Given the description of an element on the screen output the (x, y) to click on. 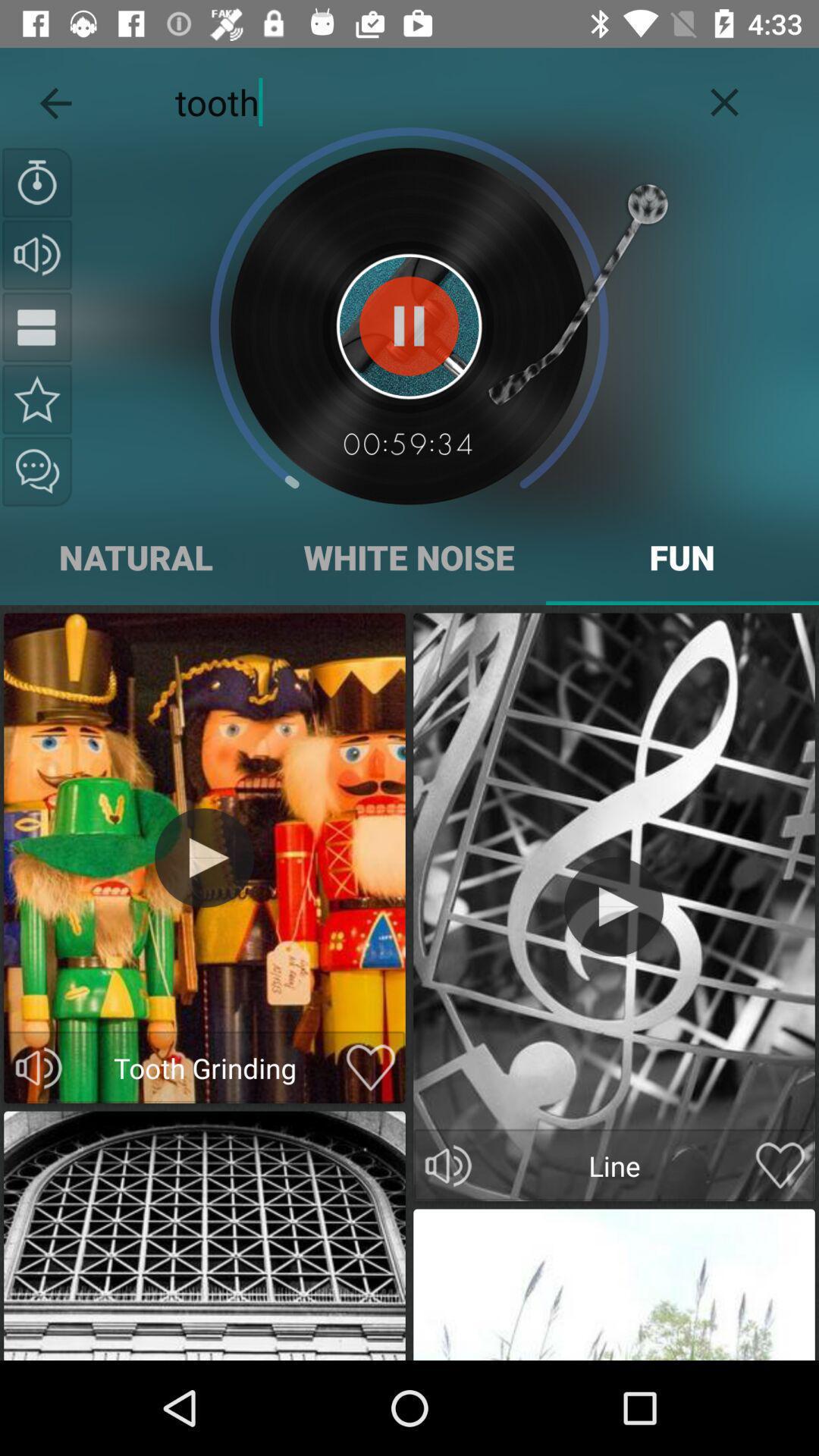
pause song (37, 327)
